Given the description of an element on the screen output the (x, y) to click on. 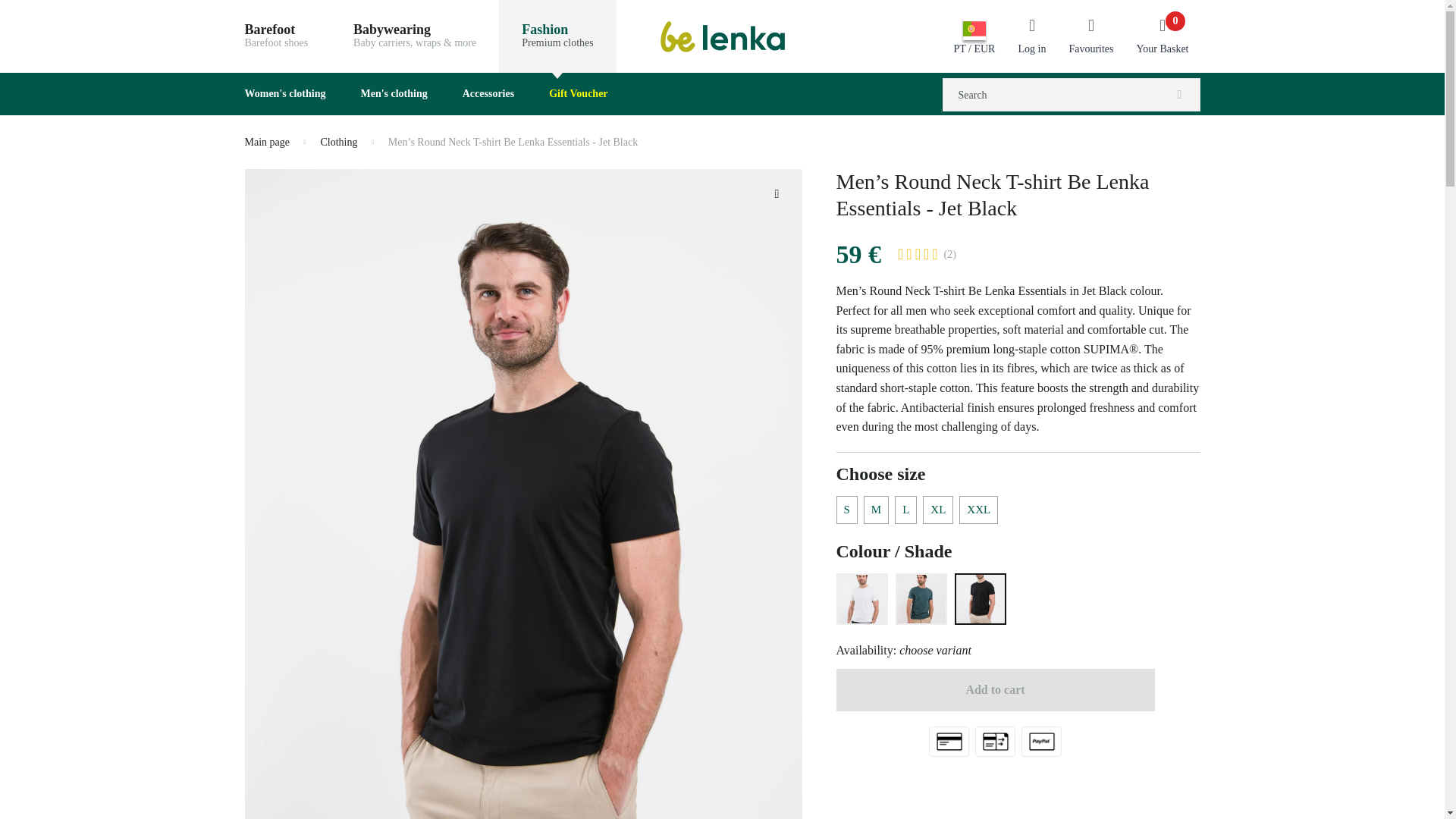
4 (908, 253)
4 (900, 253)
4 (917, 253)
Search (1179, 96)
Log in (275, 36)
4 (1031, 36)
Favourites (925, 253)
4 (1090, 36)
4 (934, 253)
